Given the description of an element on the screen output the (x, y) to click on. 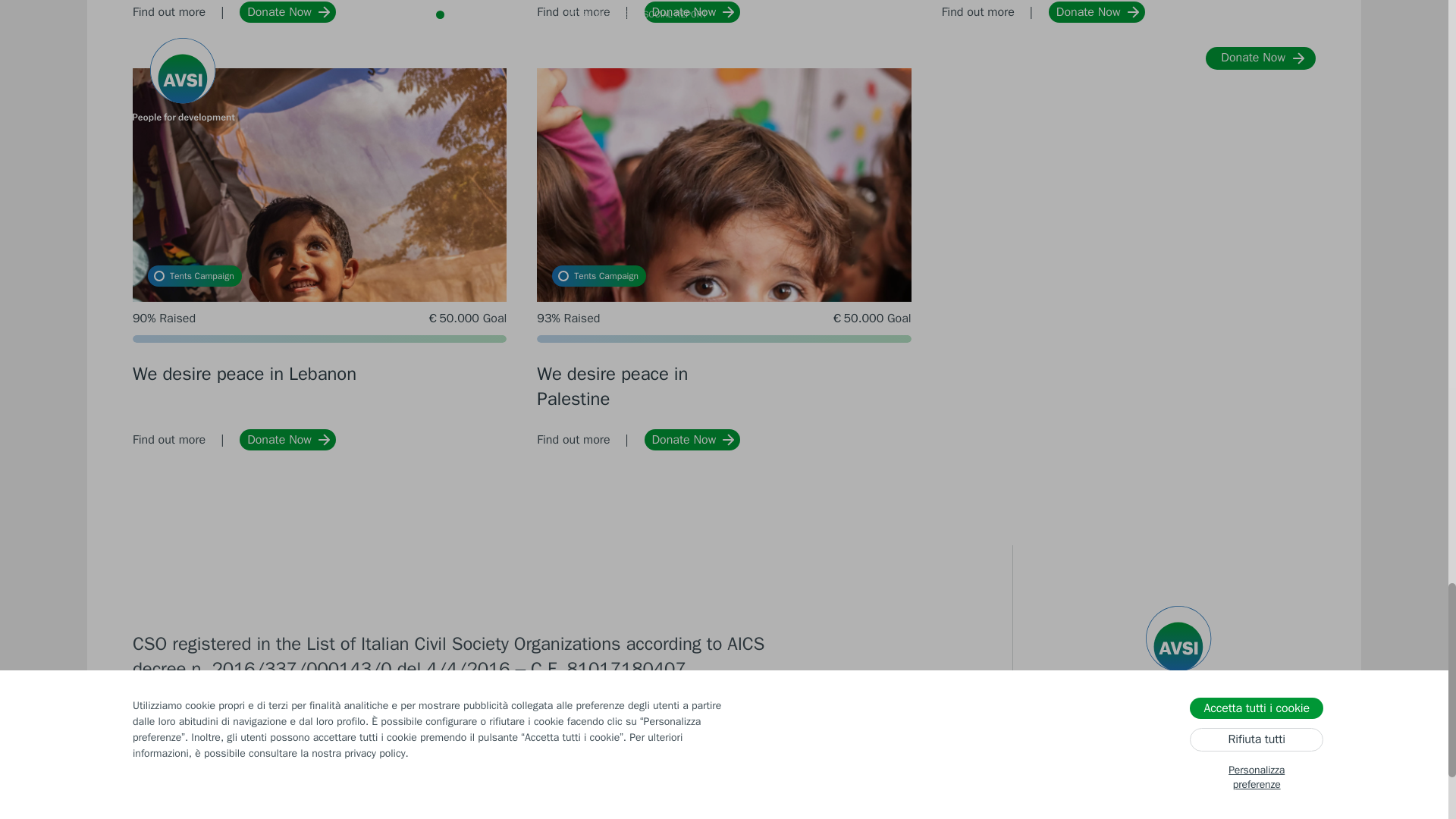
alluvioni-in-kenya-scaled-aspect-ratio-588-588 (724, 6)
ITALIA-1-scaled-aspect-ratio-588-588 (319, 6)
TUNISIA-1-aspect-ratio-588-588 (1129, 6)
